Given the description of an element on the screen output the (x, y) to click on. 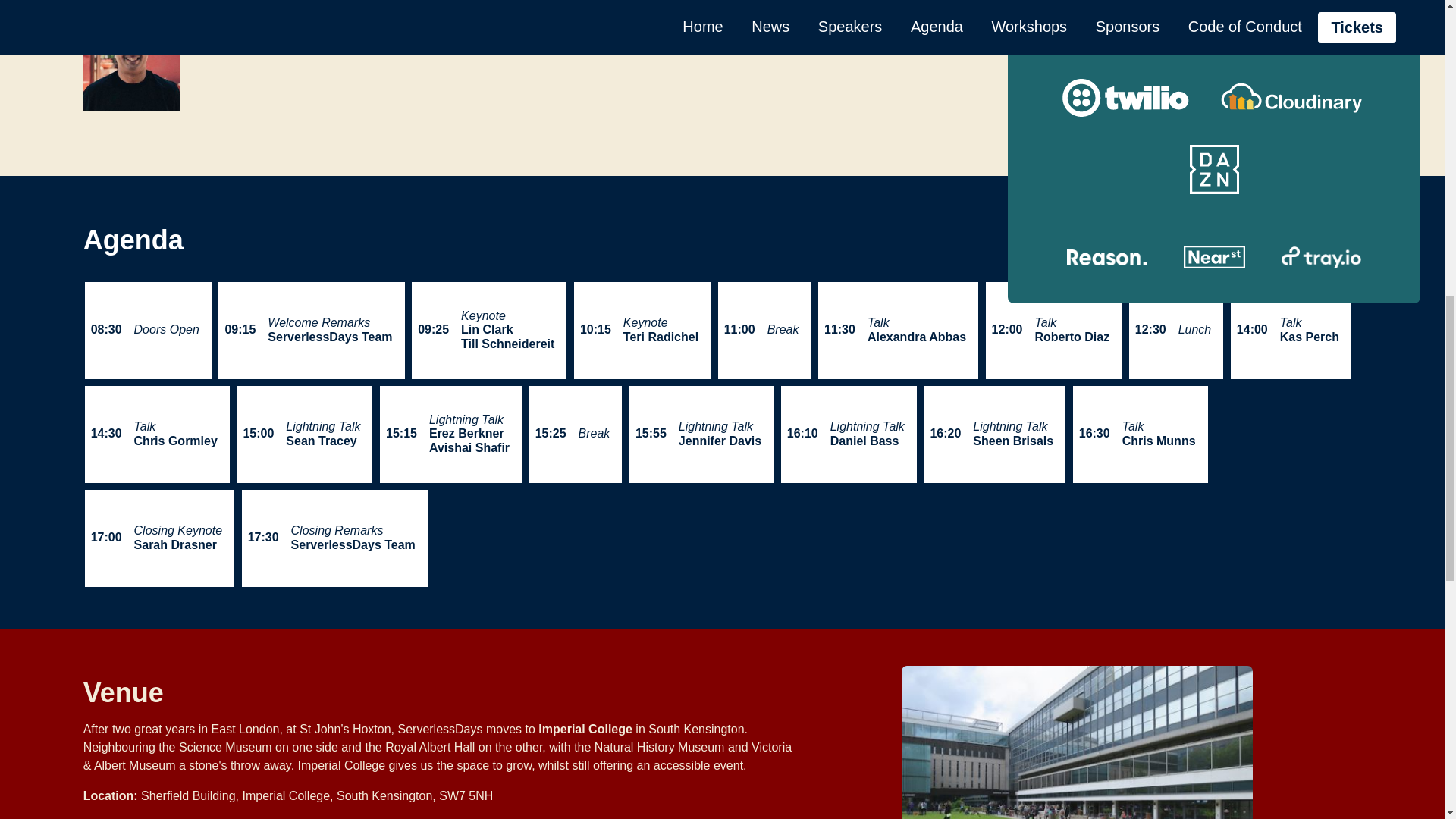
ServerlessDays Team (329, 336)
